Given the description of an element on the screen output the (x, y) to click on. 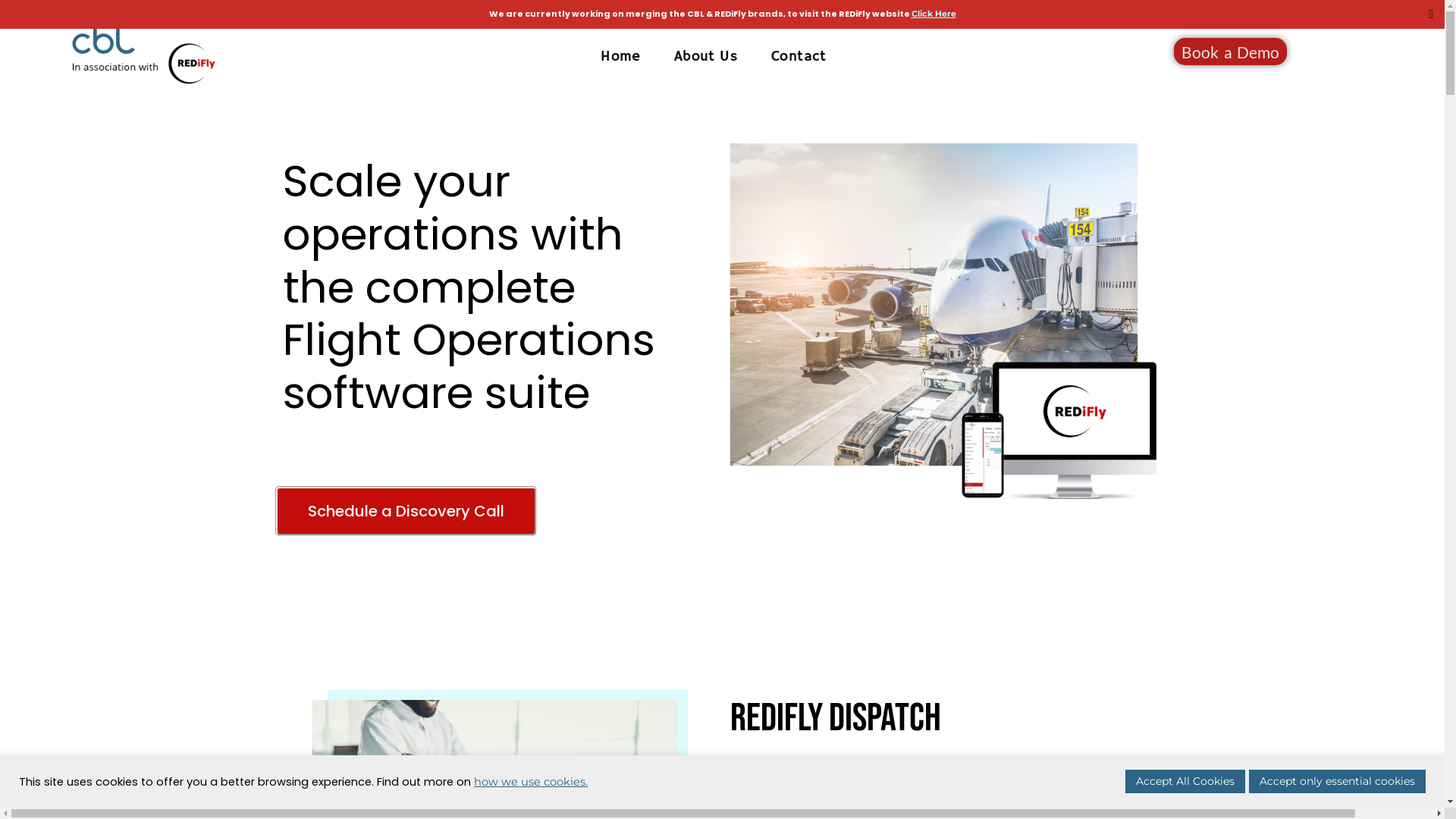
Accept only essential cookies Element type: text (1336, 781)
About Us Element type: text (705, 51)
Click Here Element type: text (933, 13)
how we use cookies. Element type: text (530, 781)
Book a Demo Element type: text (1229, 51)
Home Element type: text (620, 51)
Accept All Cookies Element type: text (1185, 781)
Contact Element type: text (798, 51)
Schedule a Discovery Call Element type: text (405, 511)
